Given the description of an element on the screen output the (x, y) to click on. 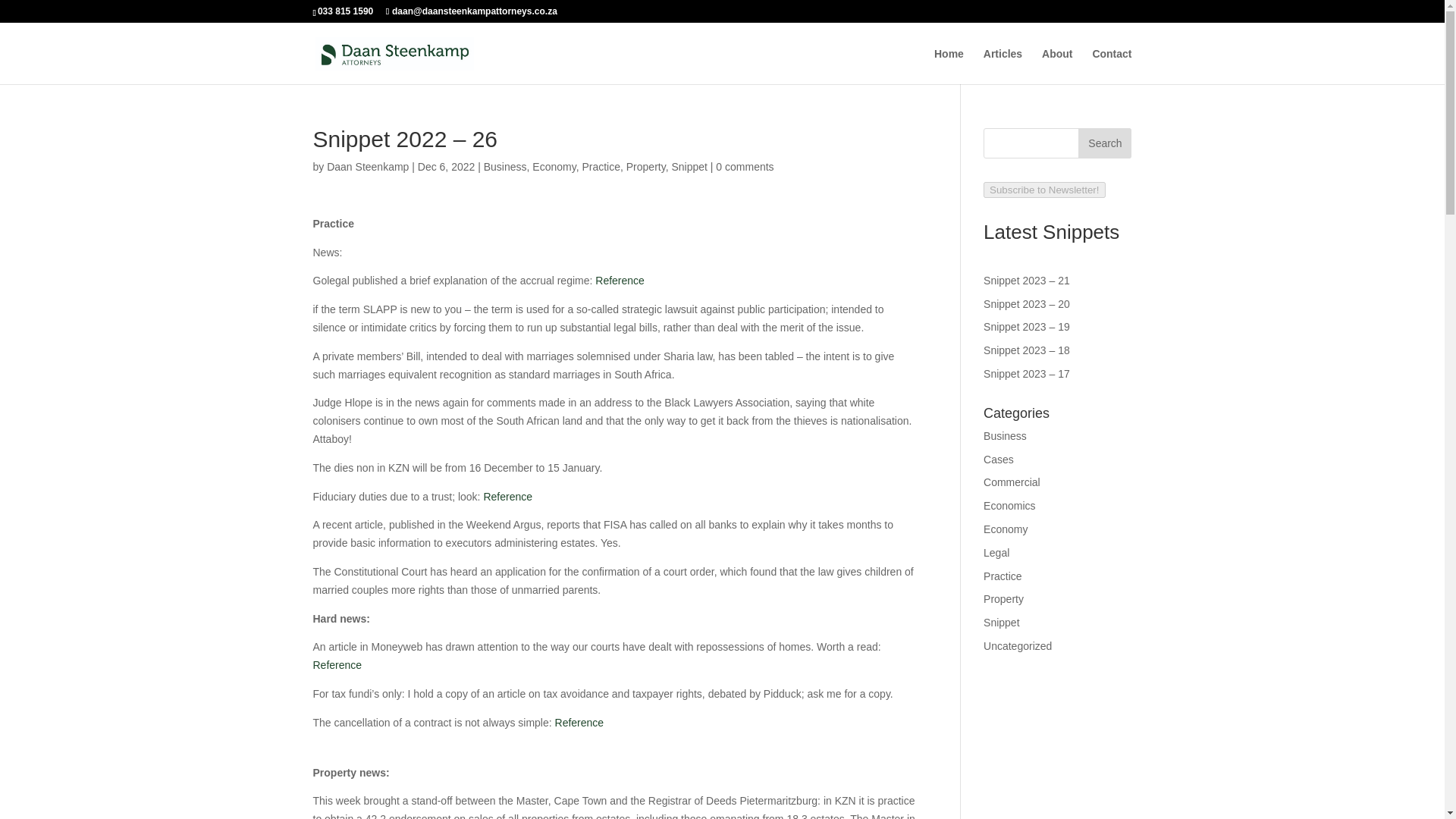
Reference (620, 280)
0 comments (744, 166)
Search (1104, 142)
Contact (1111, 66)
Economics (1009, 505)
Practice (600, 166)
Practice (1003, 576)
Search (1104, 142)
Snippet (688, 166)
Reference (507, 496)
